Given the description of an element on the screen output the (x, y) to click on. 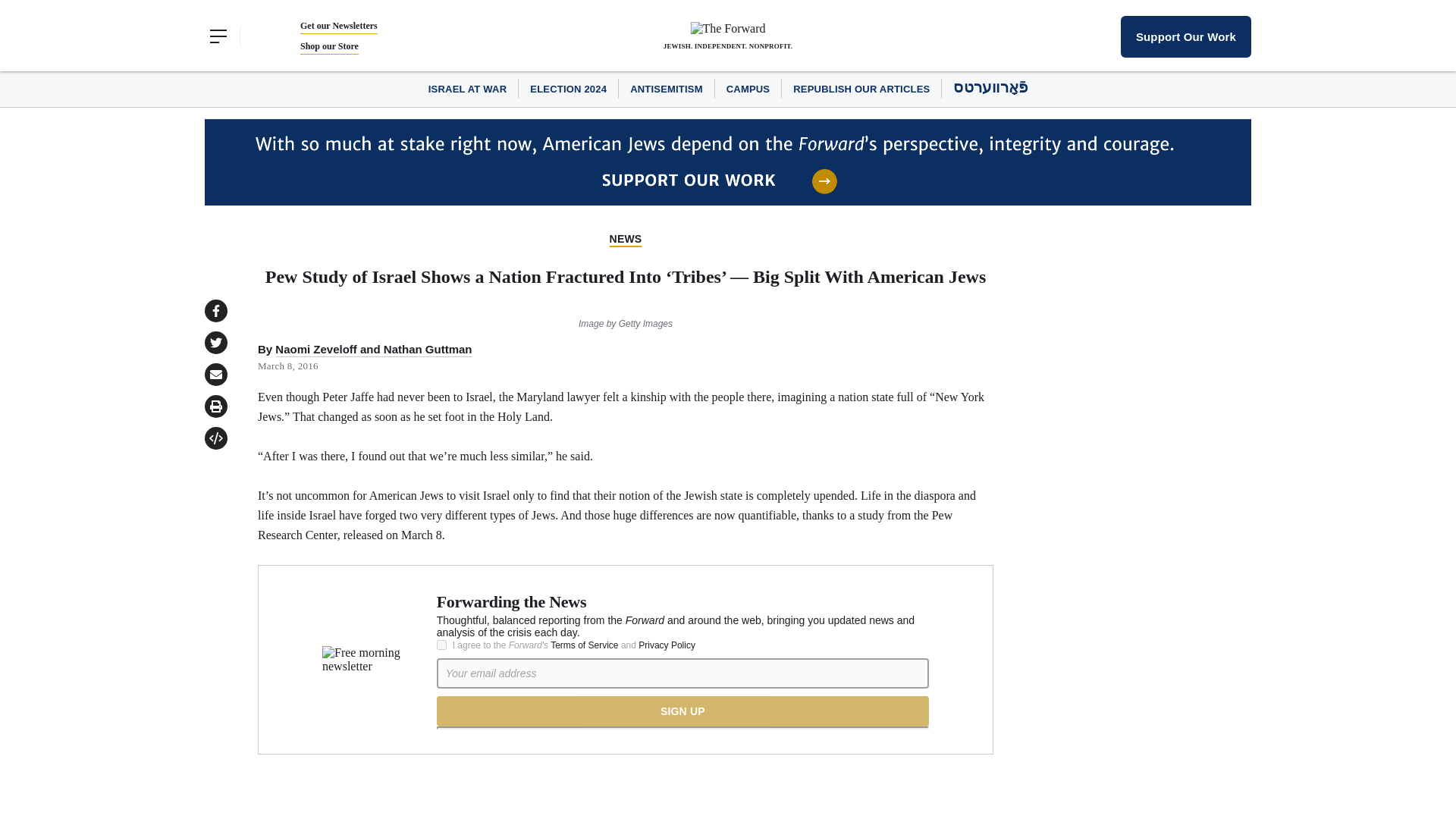
Shop our Store (328, 46)
ELECTION 2024 (568, 89)
Get our Newsletters (338, 26)
Sign Up (682, 711)
ANTISEMITISM (666, 89)
Click to open publish popup (216, 437)
Yes (441, 644)
Support Our Work (1185, 35)
ISRAEL AT WAR (467, 89)
